Given the description of an element on the screen output the (x, y) to click on. 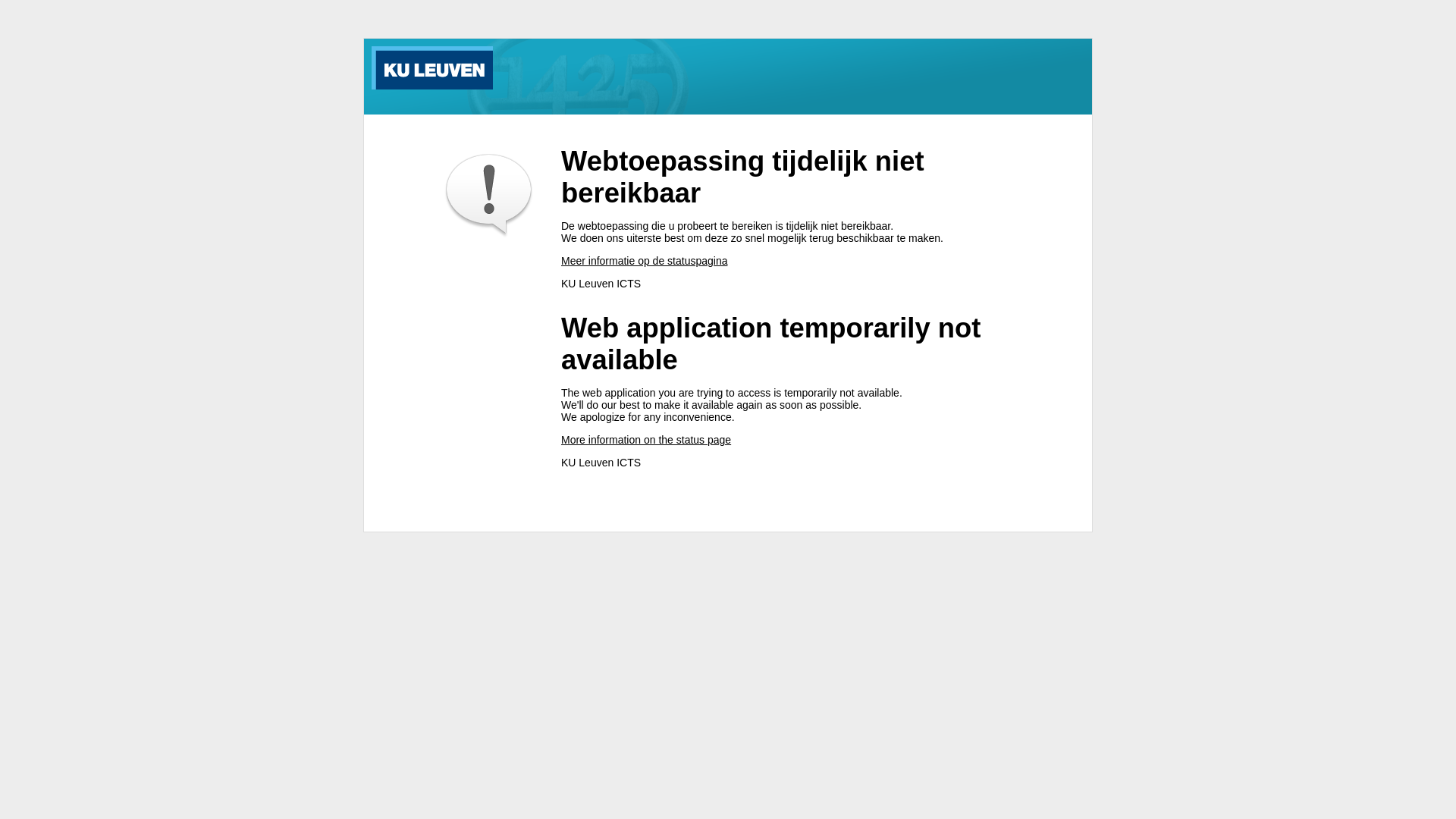
More information on the status page Element type: text (646, 439)
Meer informatie op de statuspagina Element type: text (644, 260)
